Given the description of an element on the screen output the (x, y) to click on. 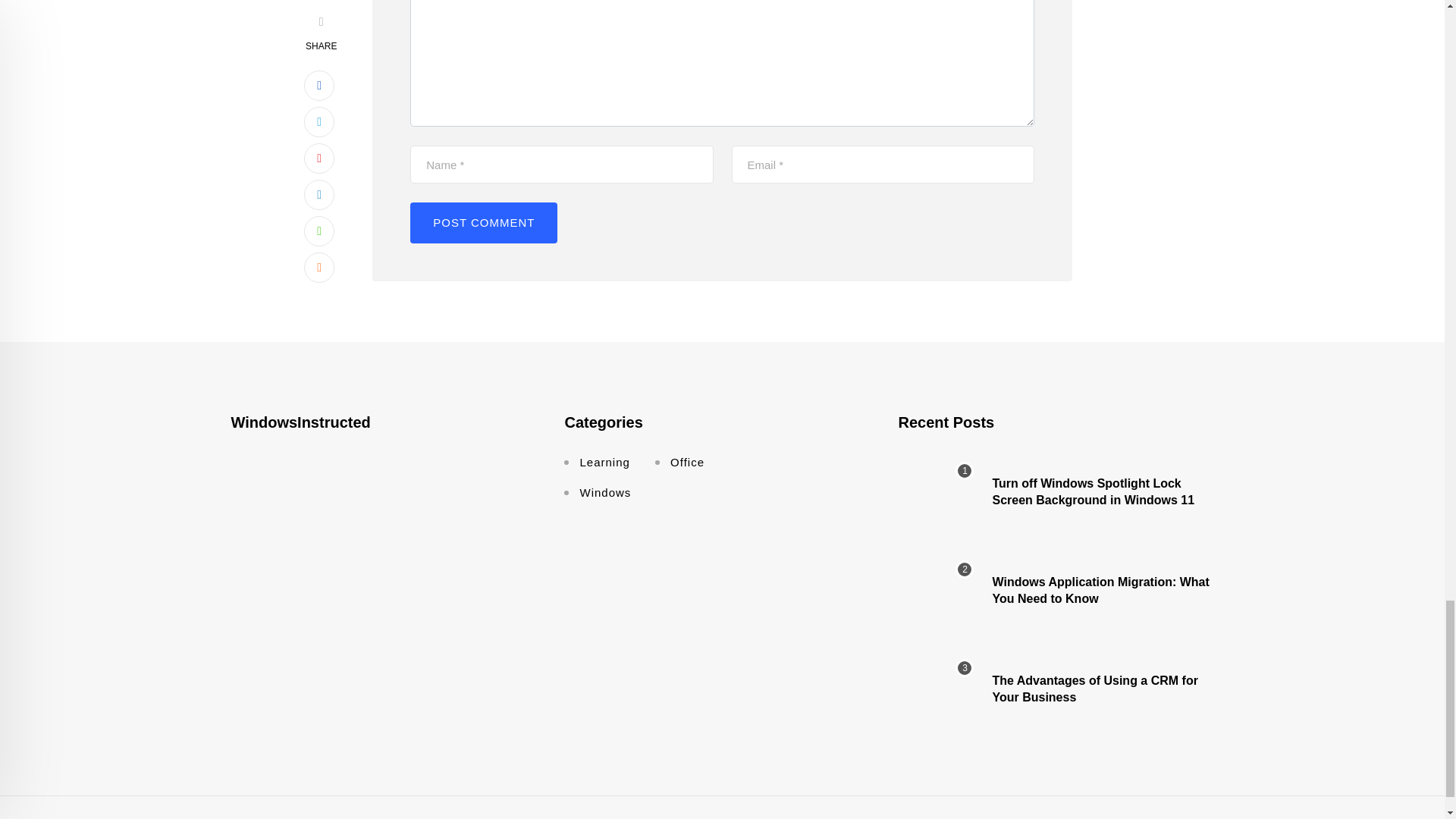
Post Comment (483, 222)
Post Comment (483, 222)
Windows Application Migration: What You Need to Know (936, 590)
The Advantages of Using a CRM for Your Business (936, 689)
